Given the description of an element on the screen output the (x, y) to click on. 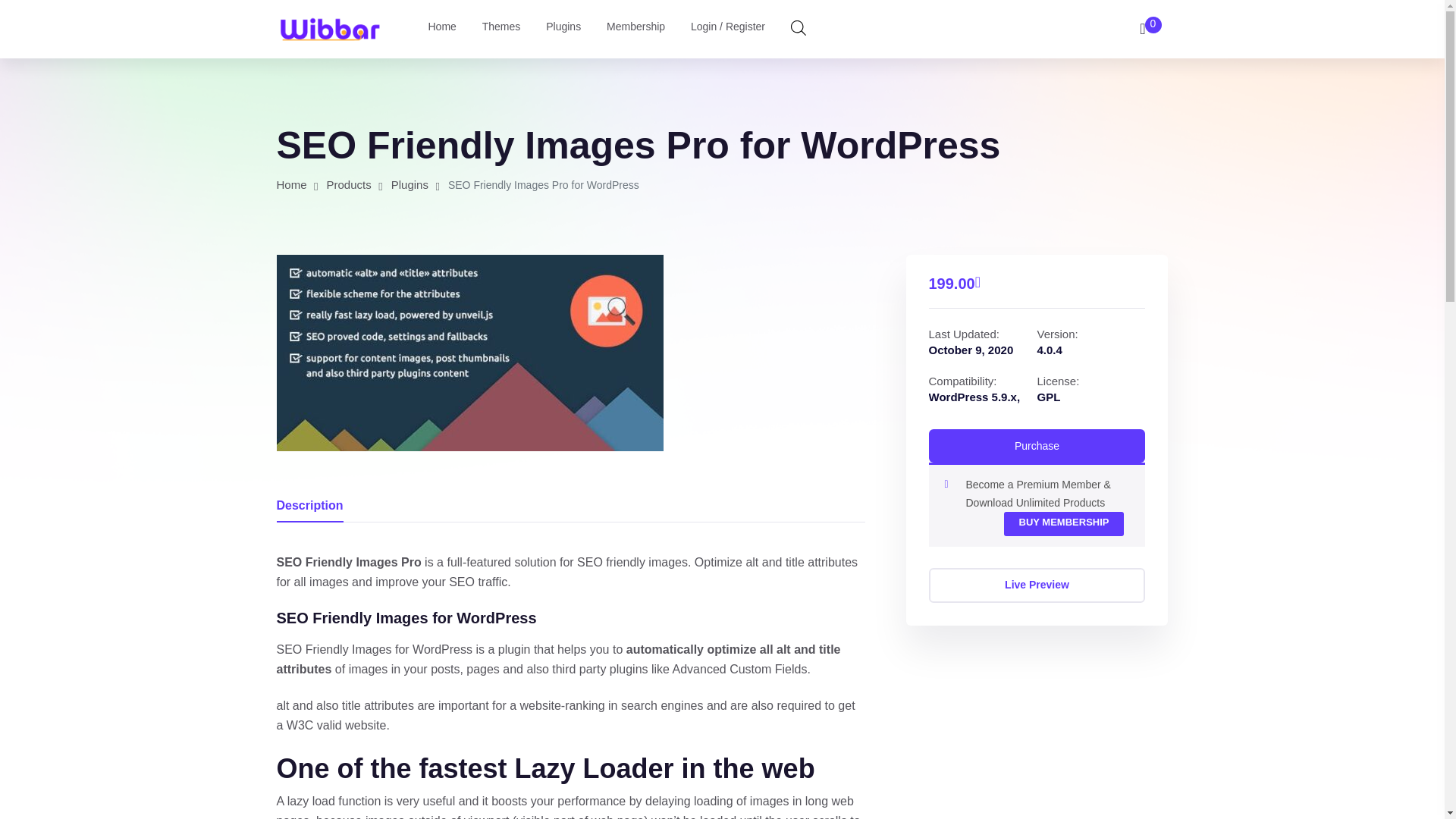
Plugins (409, 184)
Membership (636, 29)
Membership (636, 29)
BUY MEMBERSHIP (1064, 523)
0 (1148, 28)
Home (290, 184)
Live Preview (1036, 585)
Purchase (1036, 445)
Description (309, 505)
Products (348, 184)
